Given the description of an element on the screen output the (x, y) to click on. 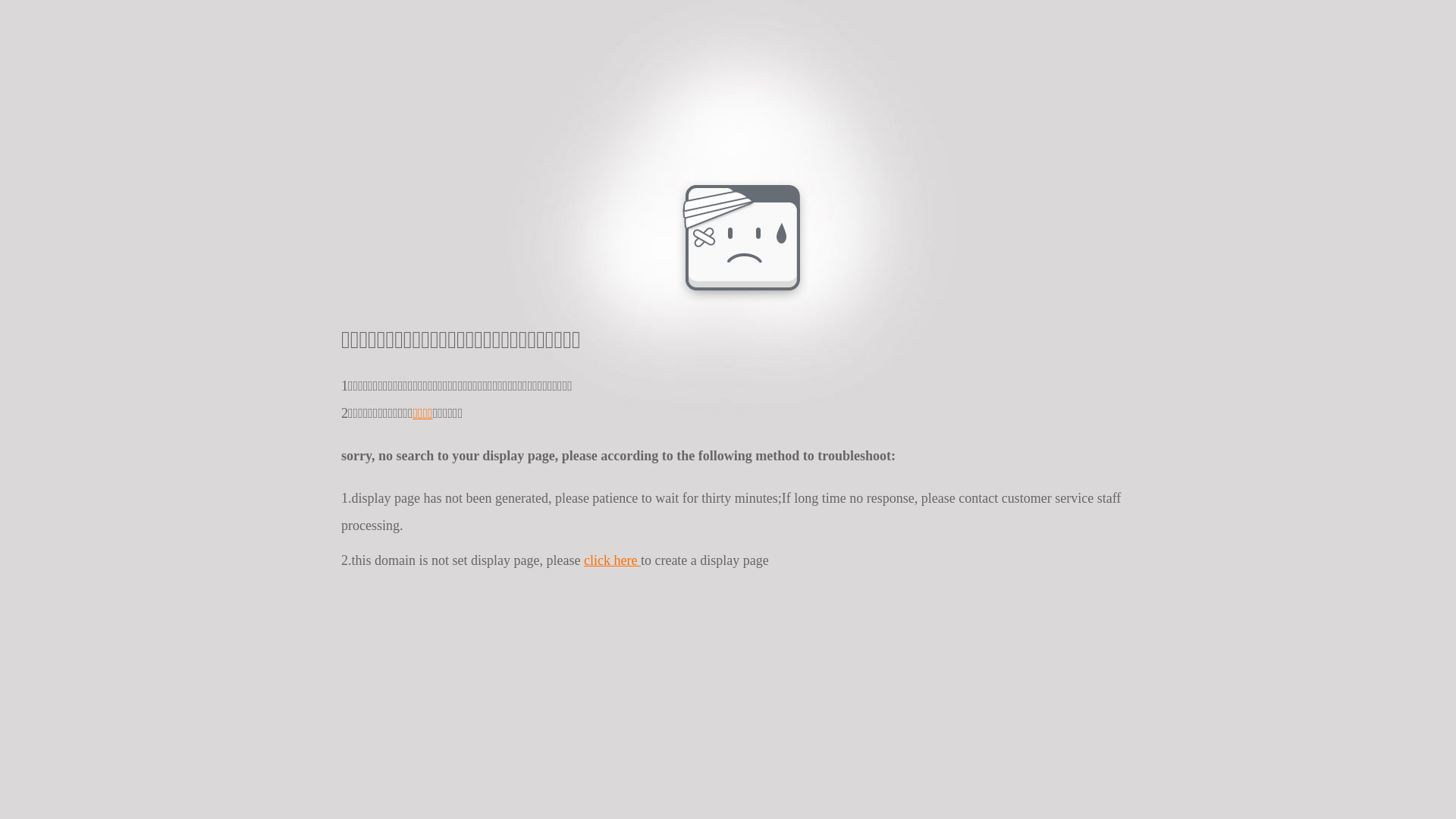
click here Element type: text (611, 559)
